Given the description of an element on the screen output the (x, y) to click on. 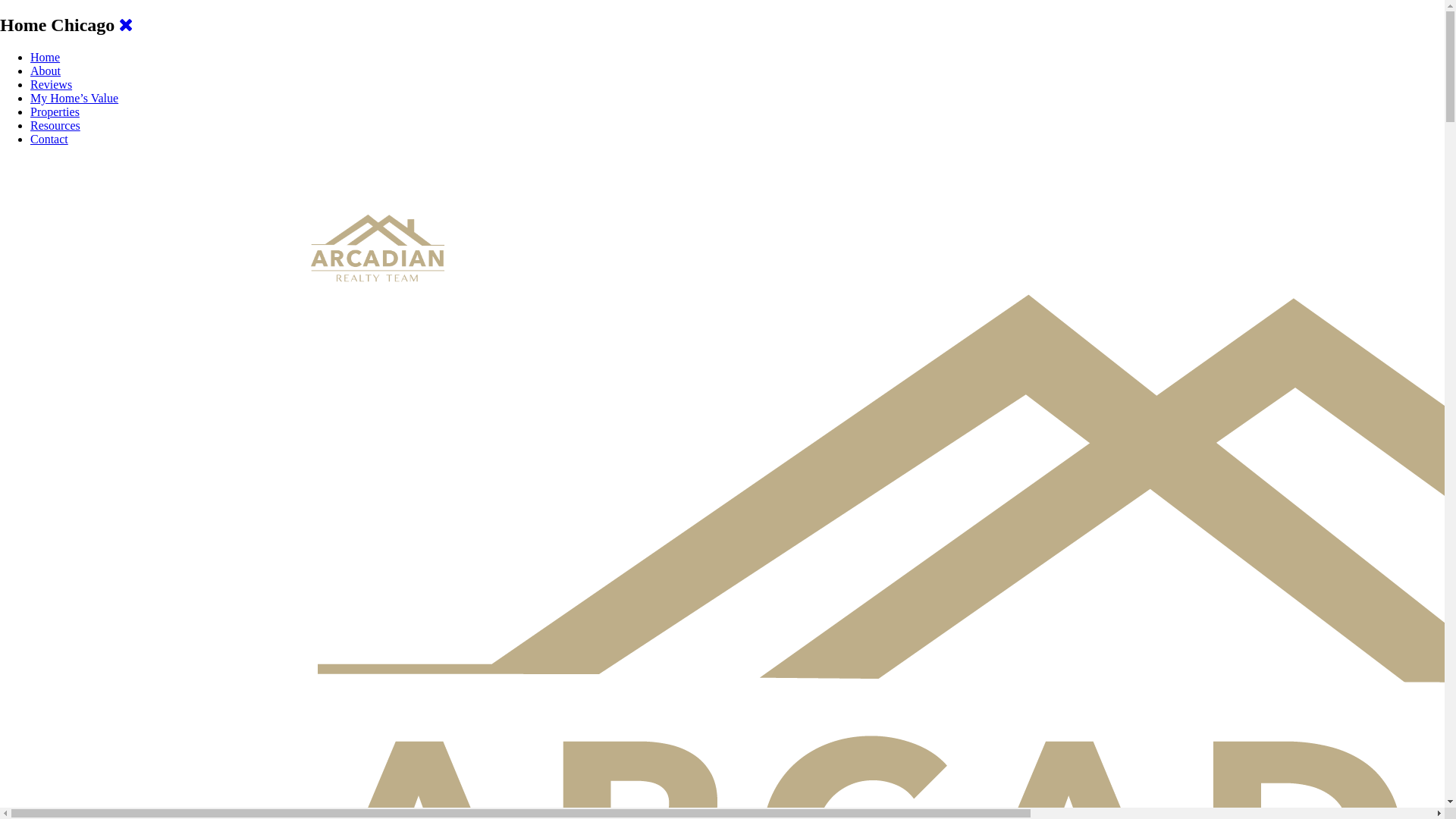
Home Element type: text (44, 56)
Contact Element type: text (49, 138)
About Element type: text (45, 70)
Properties Element type: text (54, 111)
Resources Element type: text (55, 125)
Reviews Element type: text (51, 84)
